Given the description of an element on the screen output the (x, y) to click on. 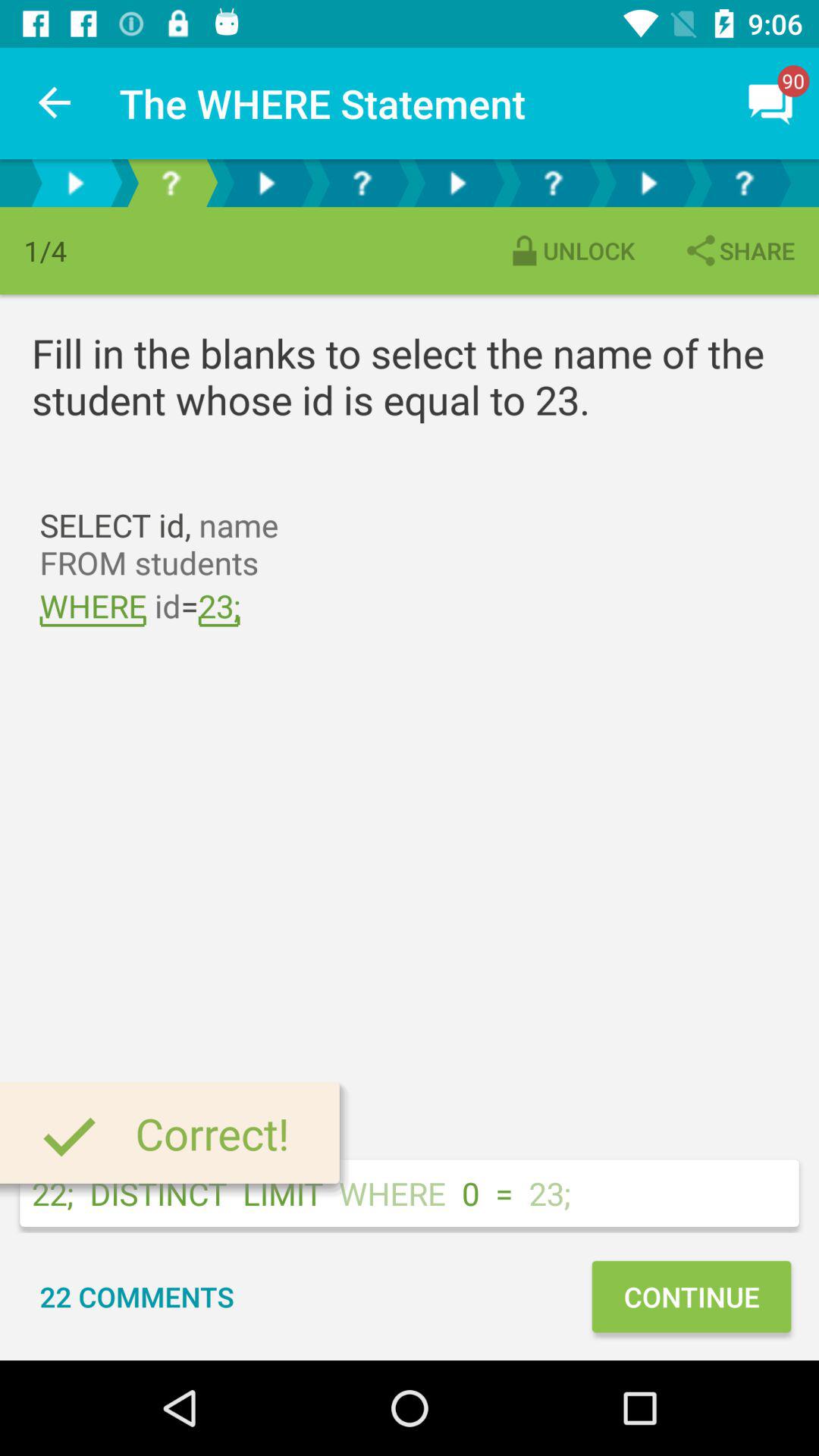
turn off item to the right of the unlock (738, 250)
